Given the description of an element on the screen output the (x, y) to click on. 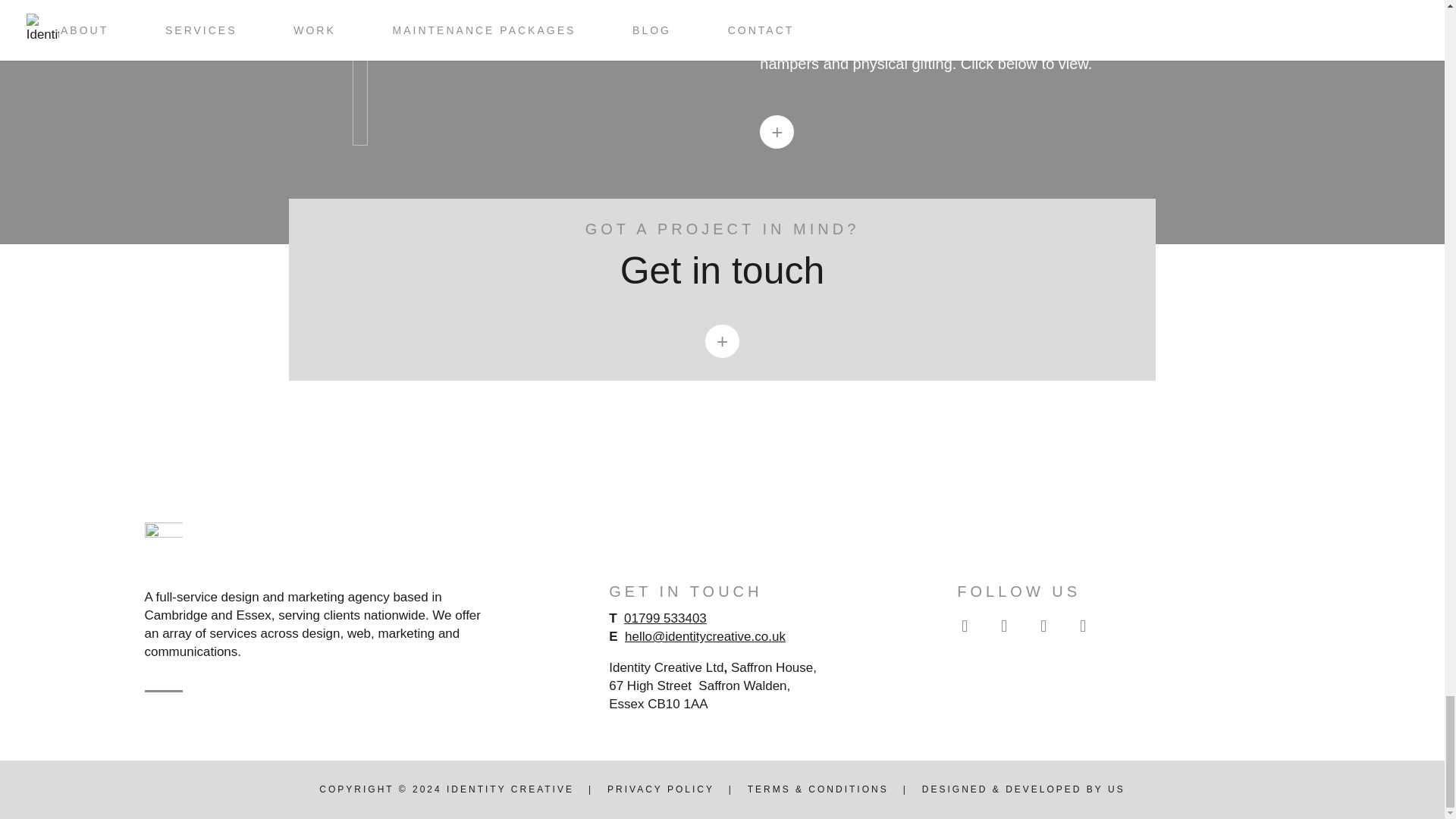
01799 533403 (665, 617)
IC-WEB-Project-Digiigifts-v2 (360, 72)
PRIVACY POLICY (660, 788)
Identity-Creative-Favicon (163, 541)
